Given the description of an element on the screen output the (x, y) to click on. 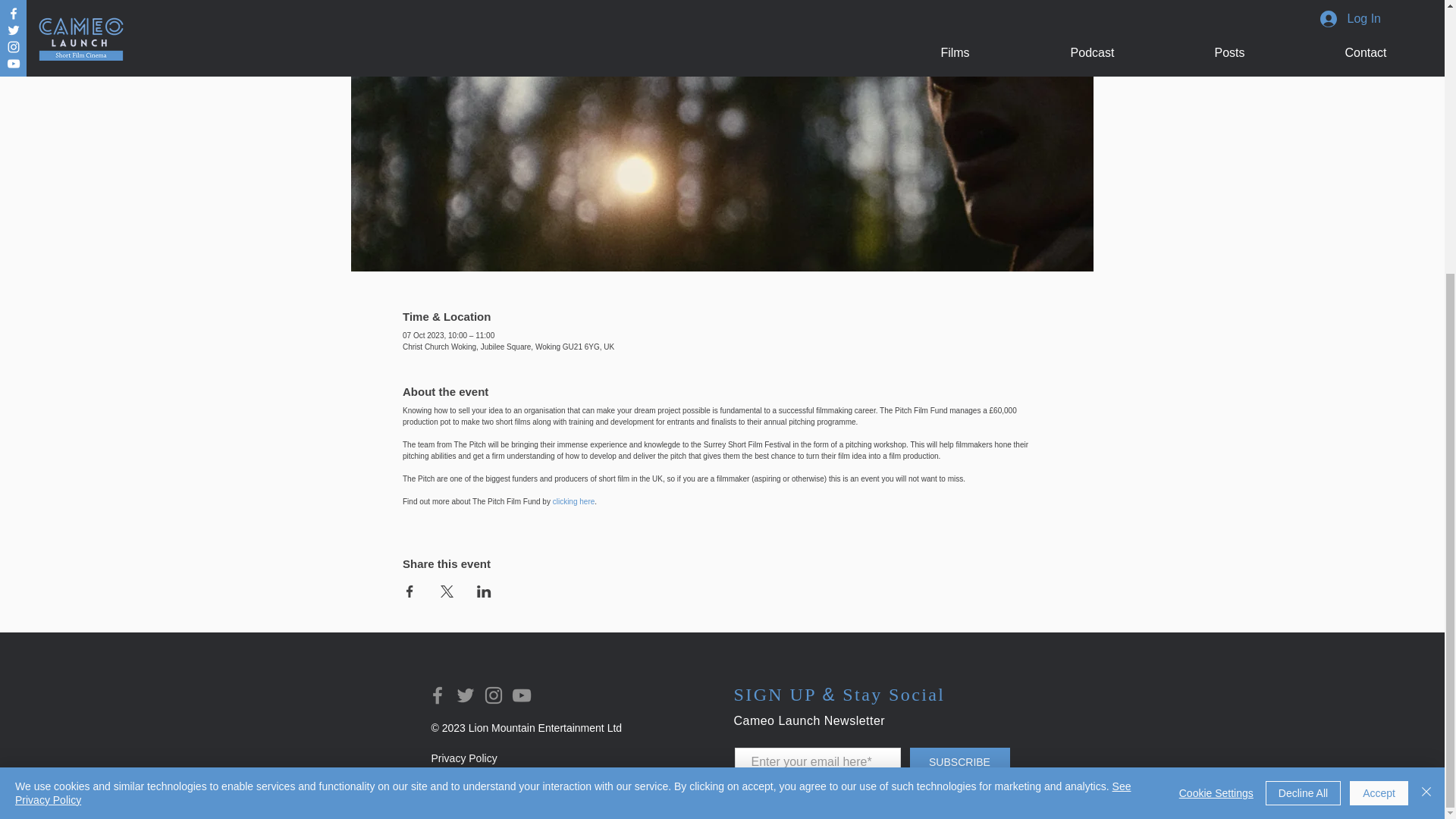
Decline All (1302, 391)
Accept (1378, 391)
clicking here (574, 501)
SUBSCRIBE (960, 762)
Terms and Conditions (481, 788)
See Privacy Policy (572, 391)
Privacy Policy (463, 758)
